Given the description of an element on the screen output the (x, y) to click on. 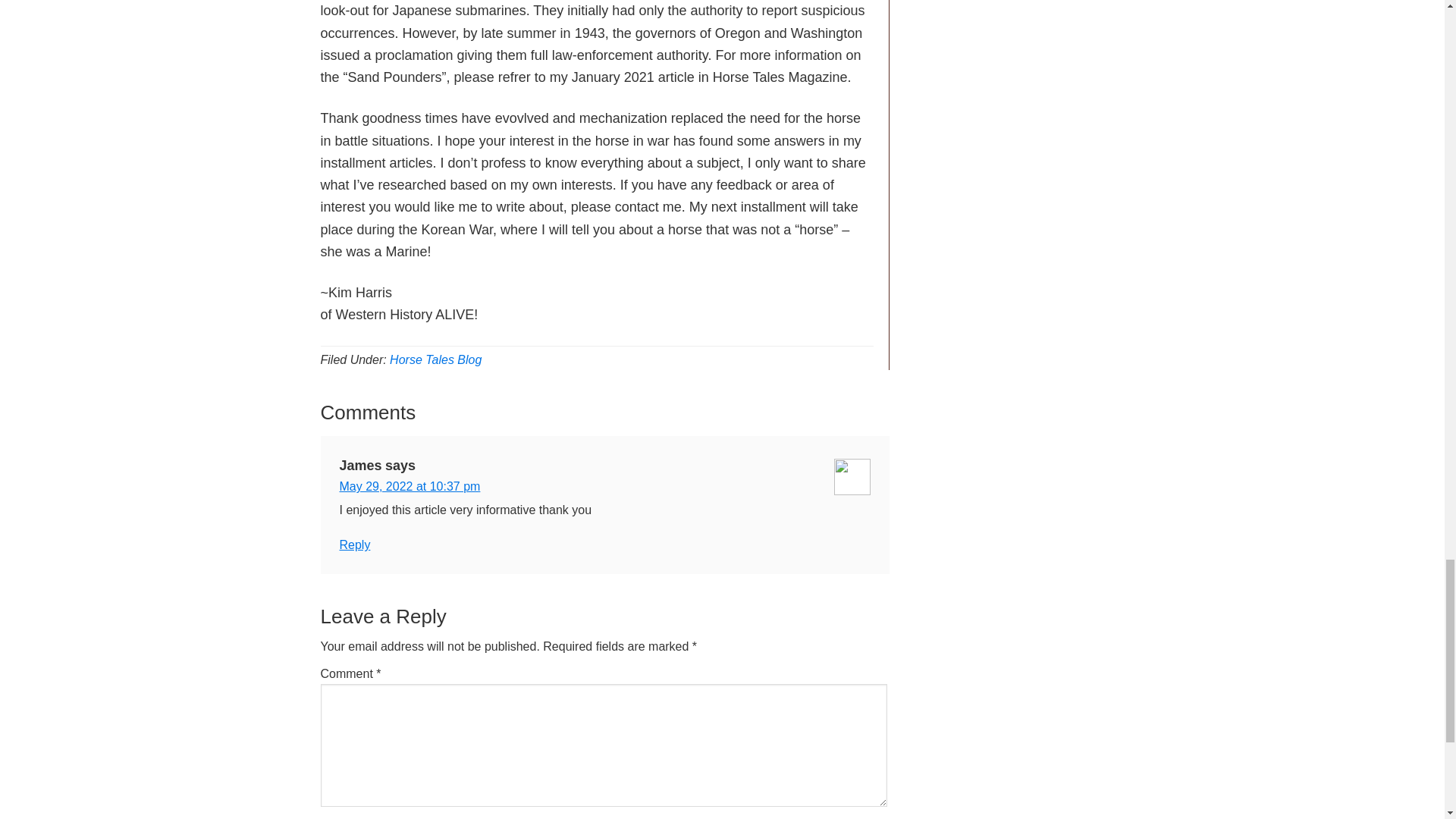
Reply (355, 544)
May 29, 2022 at 10:37 pm (409, 486)
Horse Tales Blog (435, 359)
